Given the description of an element on the screen output the (x, y) to click on. 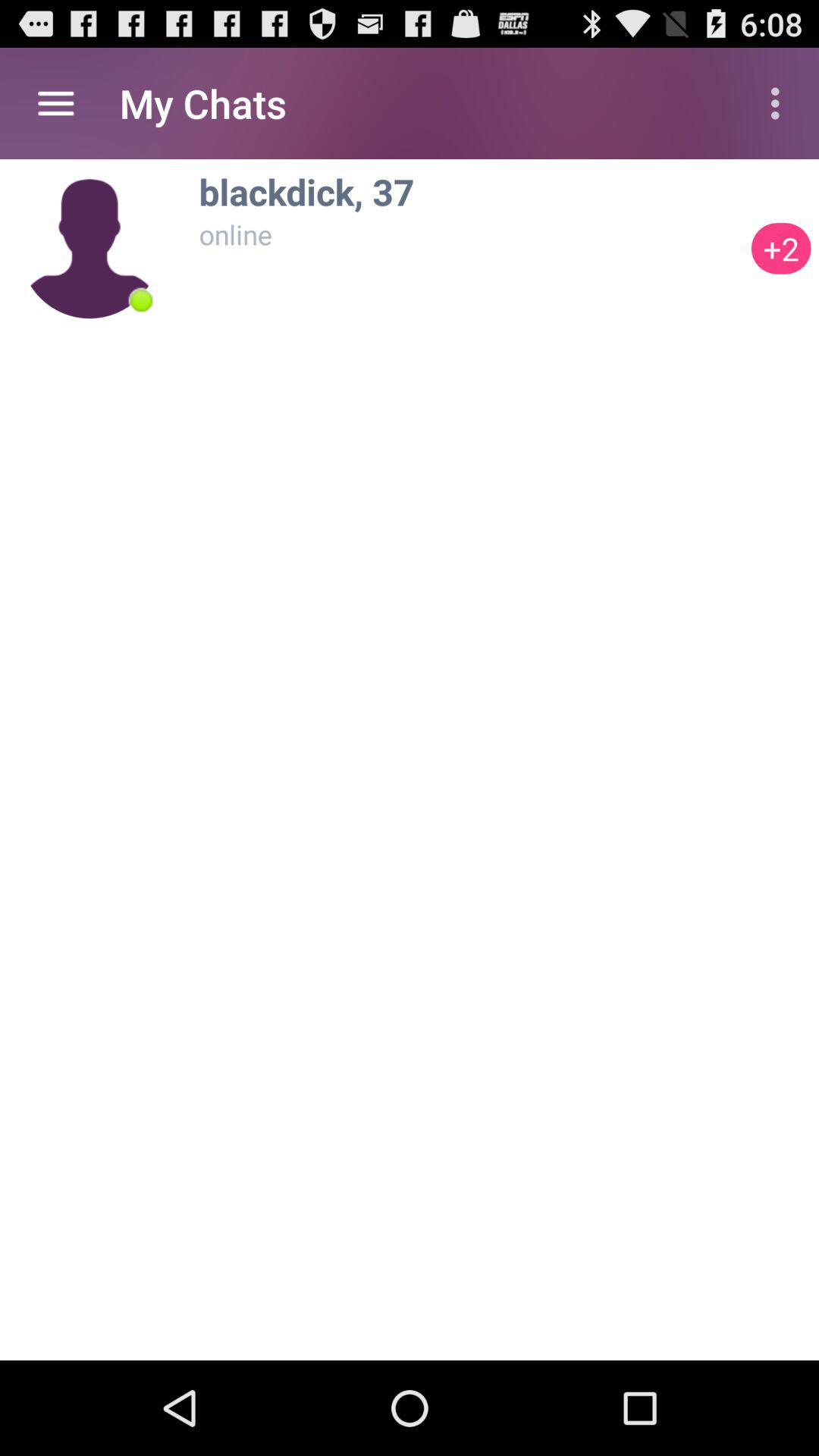
launch item to the left of +2 (141, 300)
